Given the description of an element on the screen output the (x, y) to click on. 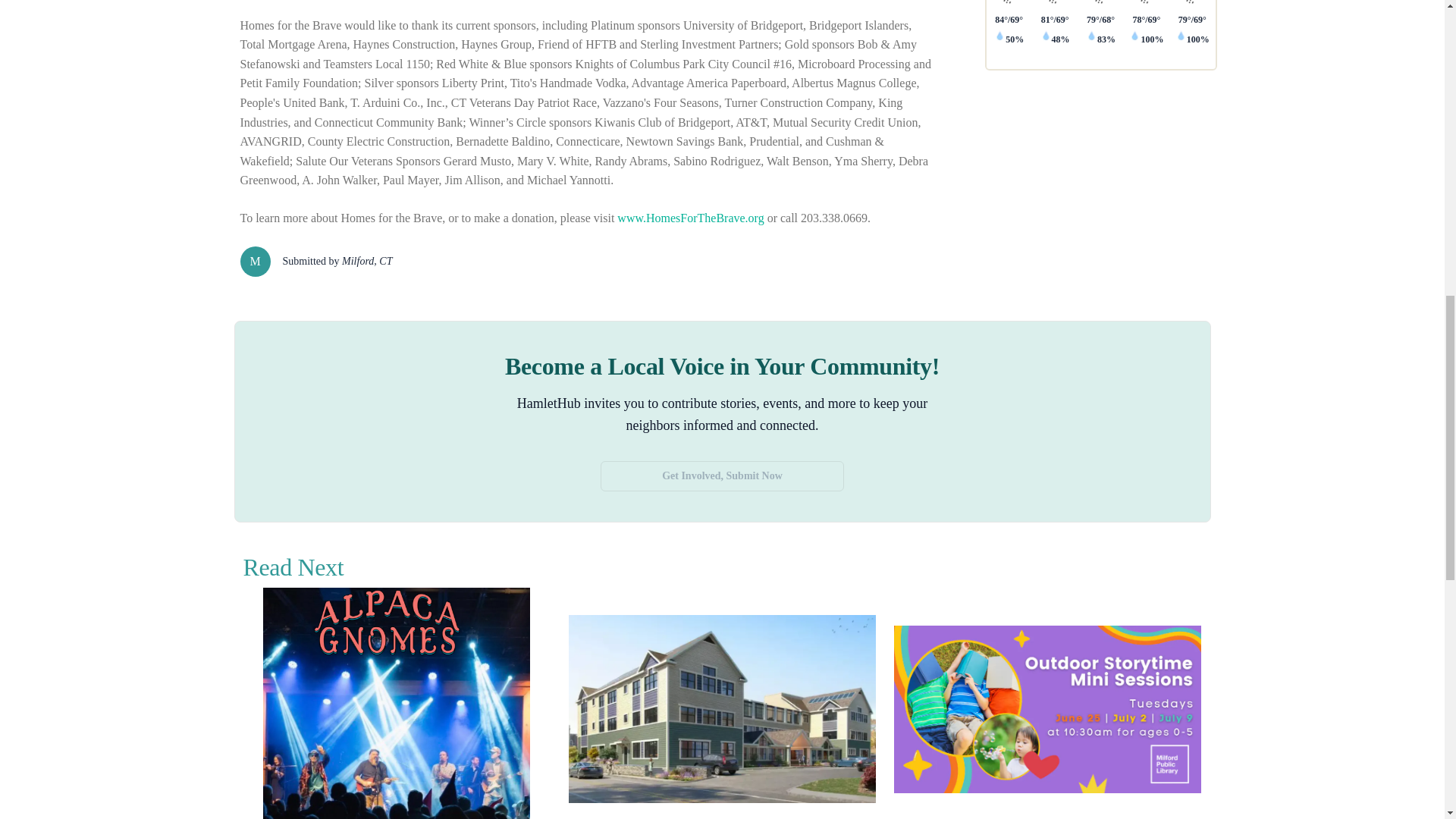
Get Involved, Submit Now (721, 476)
Get Involved, Submit Now (721, 465)
3rd party ad content (1094, 195)
www.HomesForTheBrave.org (689, 217)
